Given the description of an element on the screen output the (x, y) to click on. 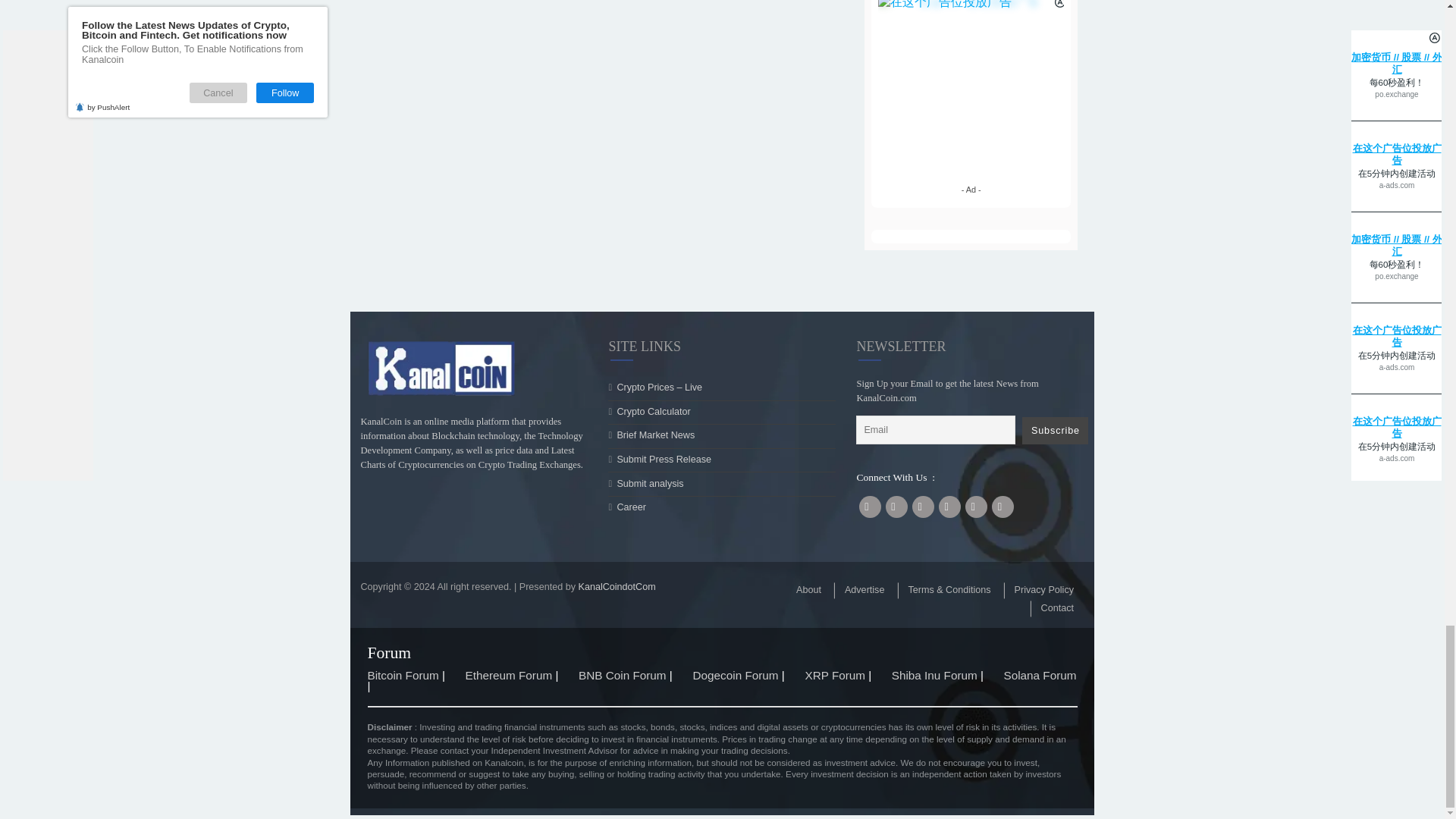
Subscribe (1172, 785)
Yes, I'm Subscribed (1078, 236)
